Given the description of an element on the screen output the (x, y) to click on. 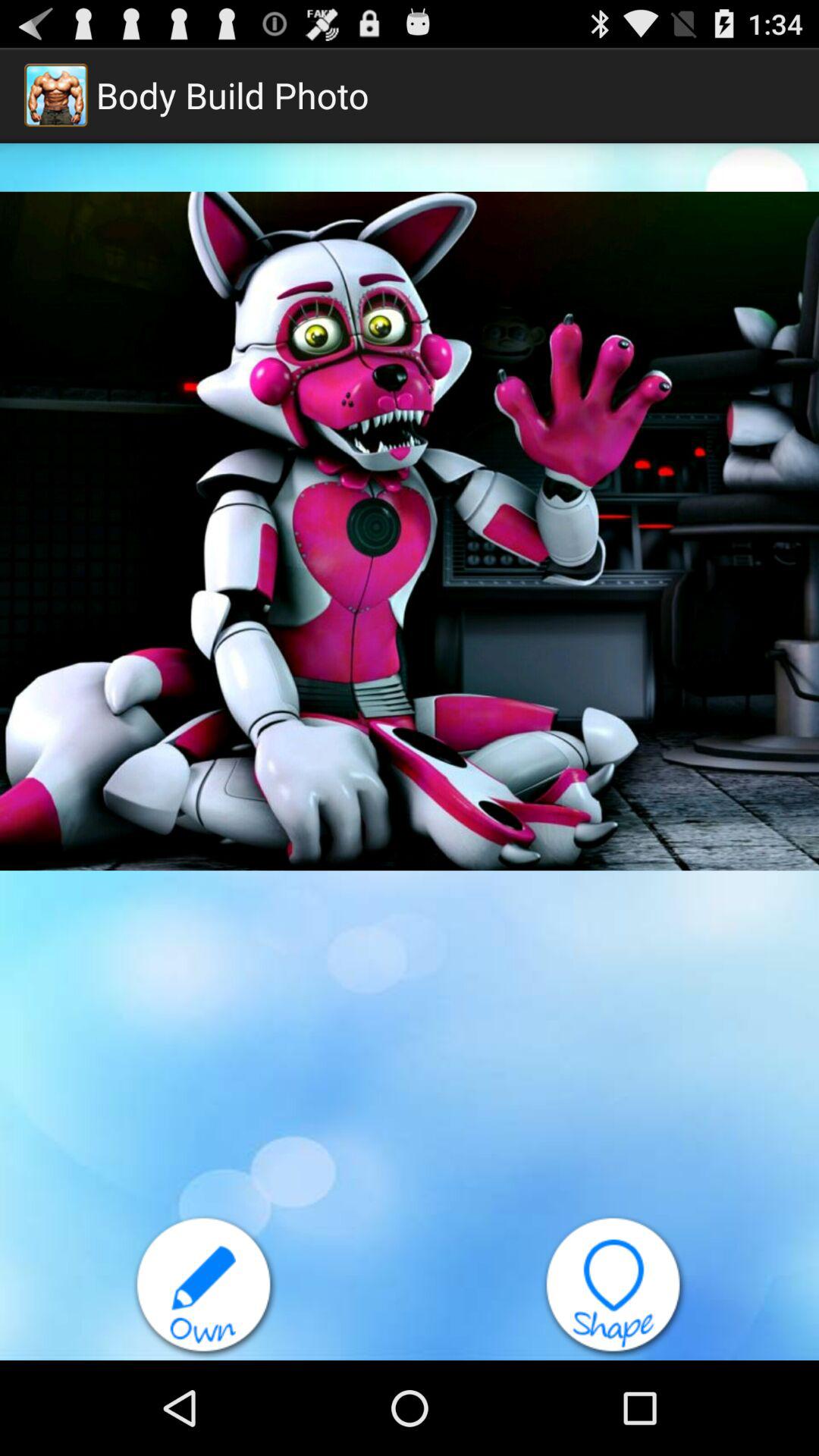
shape (614, 1287)
